Given the description of an element on the screen output the (x, y) to click on. 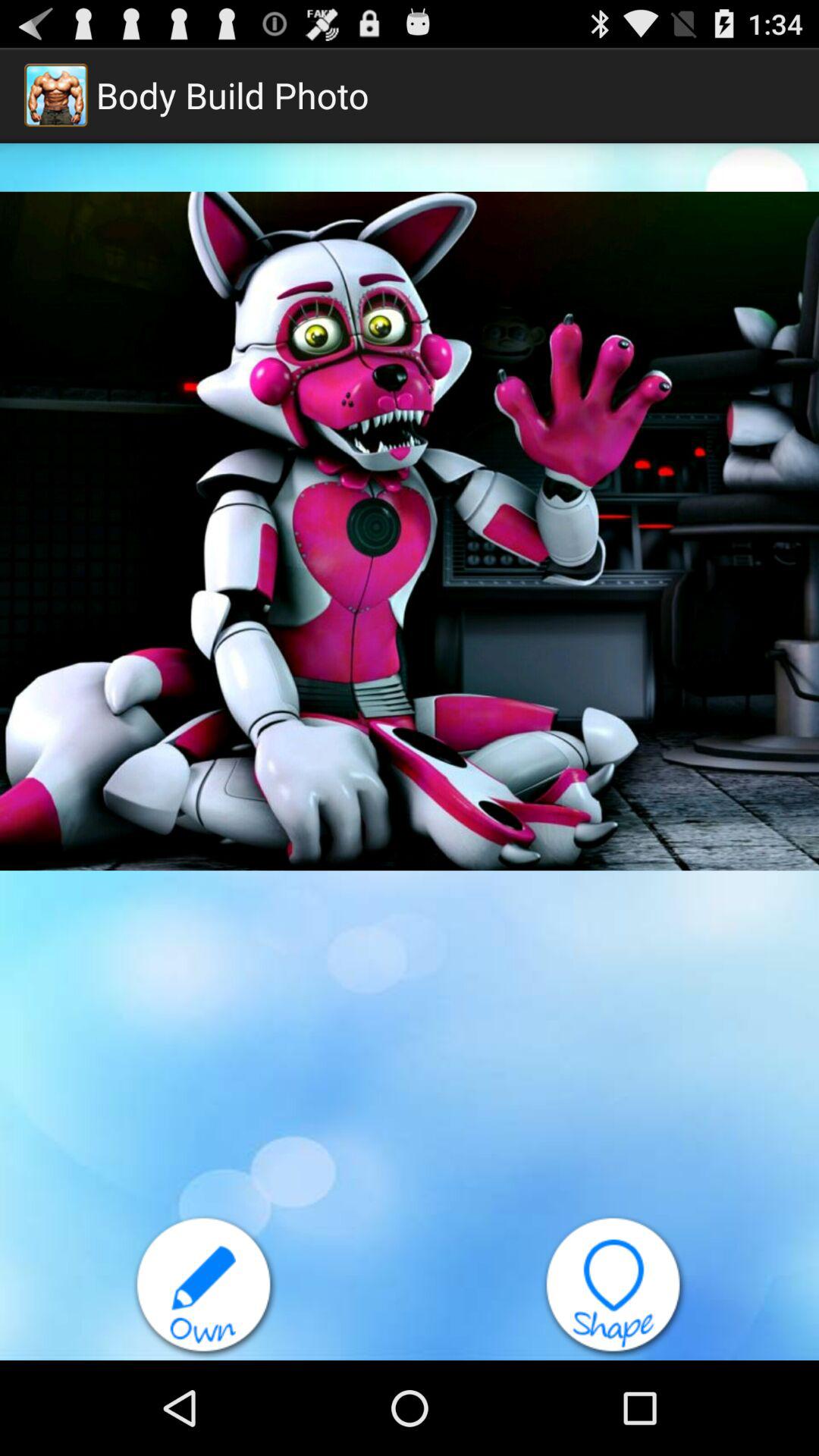
shape (614, 1287)
